Given the description of an element on the screen output the (x, y) to click on. 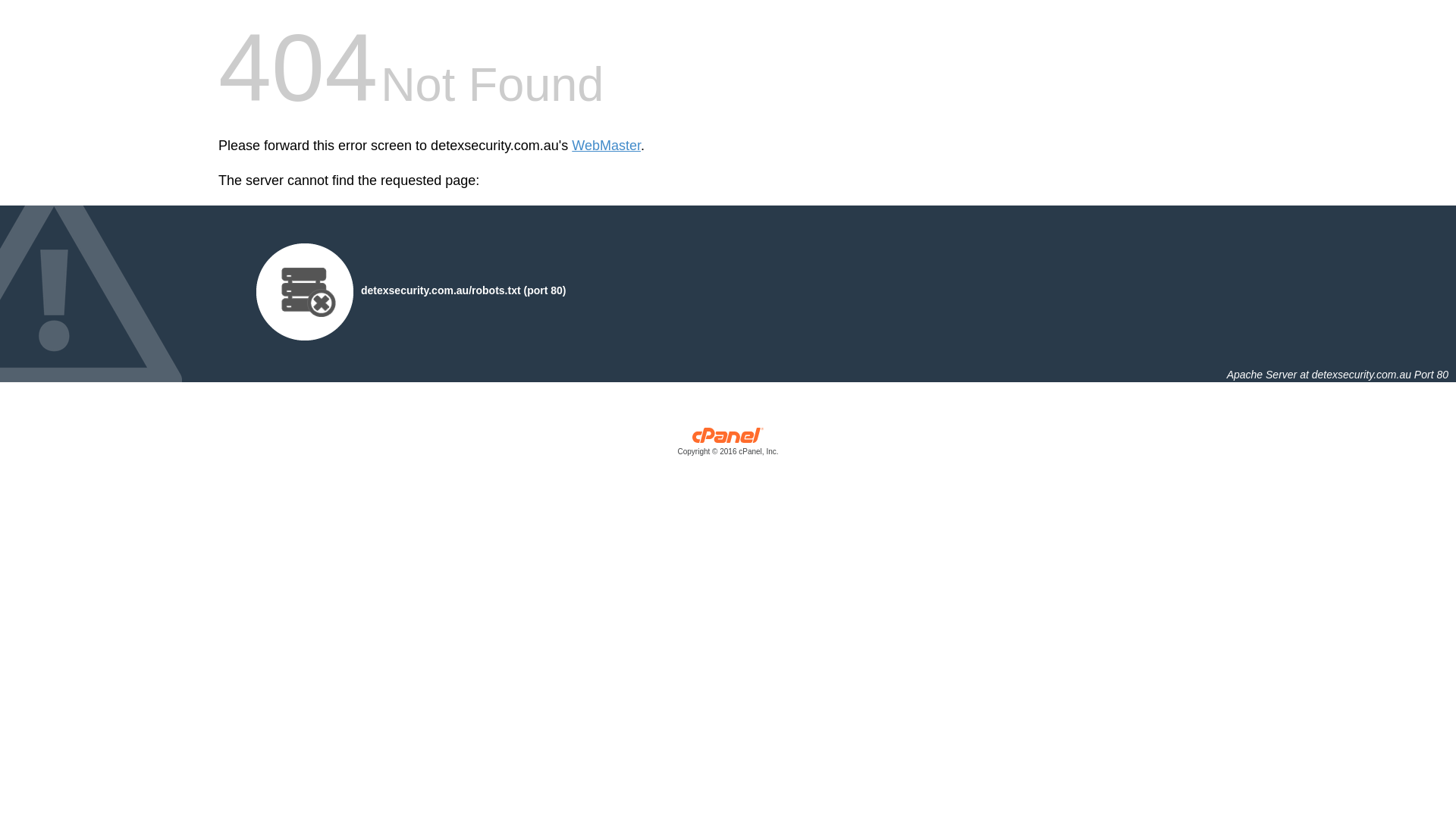
WebMaster Element type: text (605, 145)
